Given the description of an element on the screen output the (x, y) to click on. 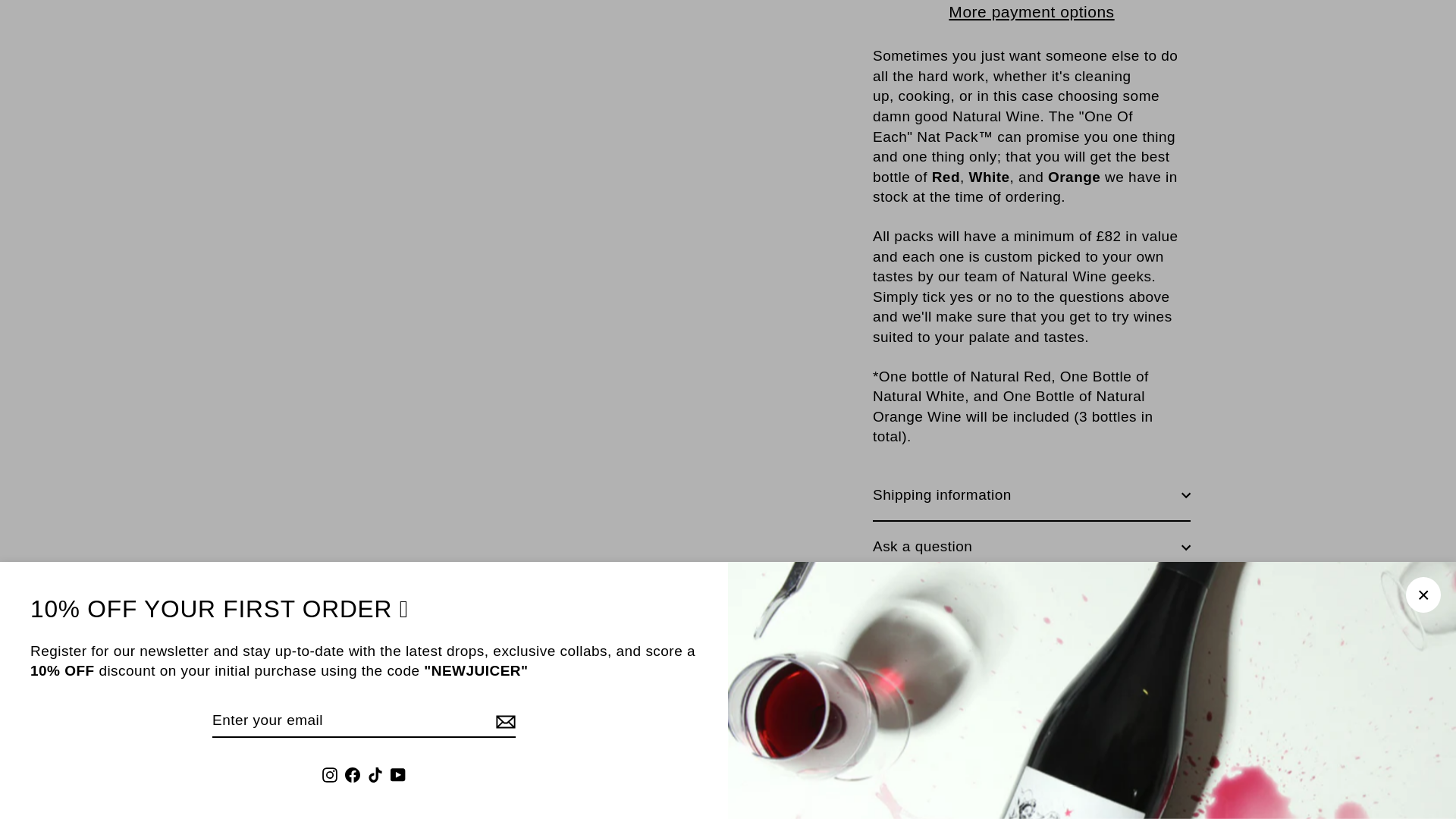
ICON-HAMBURGER (130, 47)
twitter (1007, 615)
Tweet on Twitter (1034, 615)
